Given the description of an element on the screen output the (x, y) to click on. 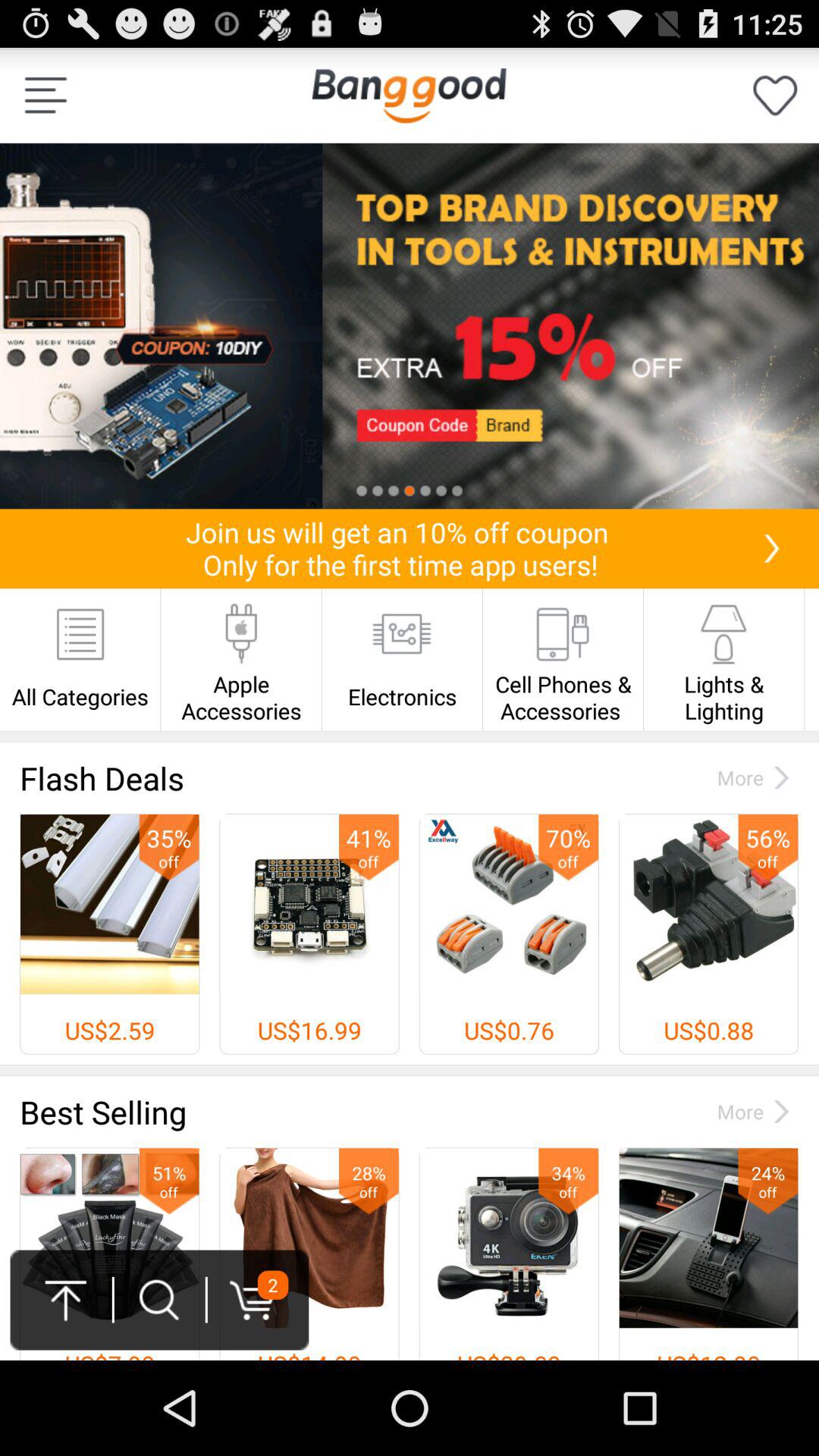
view top tools and instruments (409, 326)
